Given the description of an element on the screen output the (x, y) to click on. 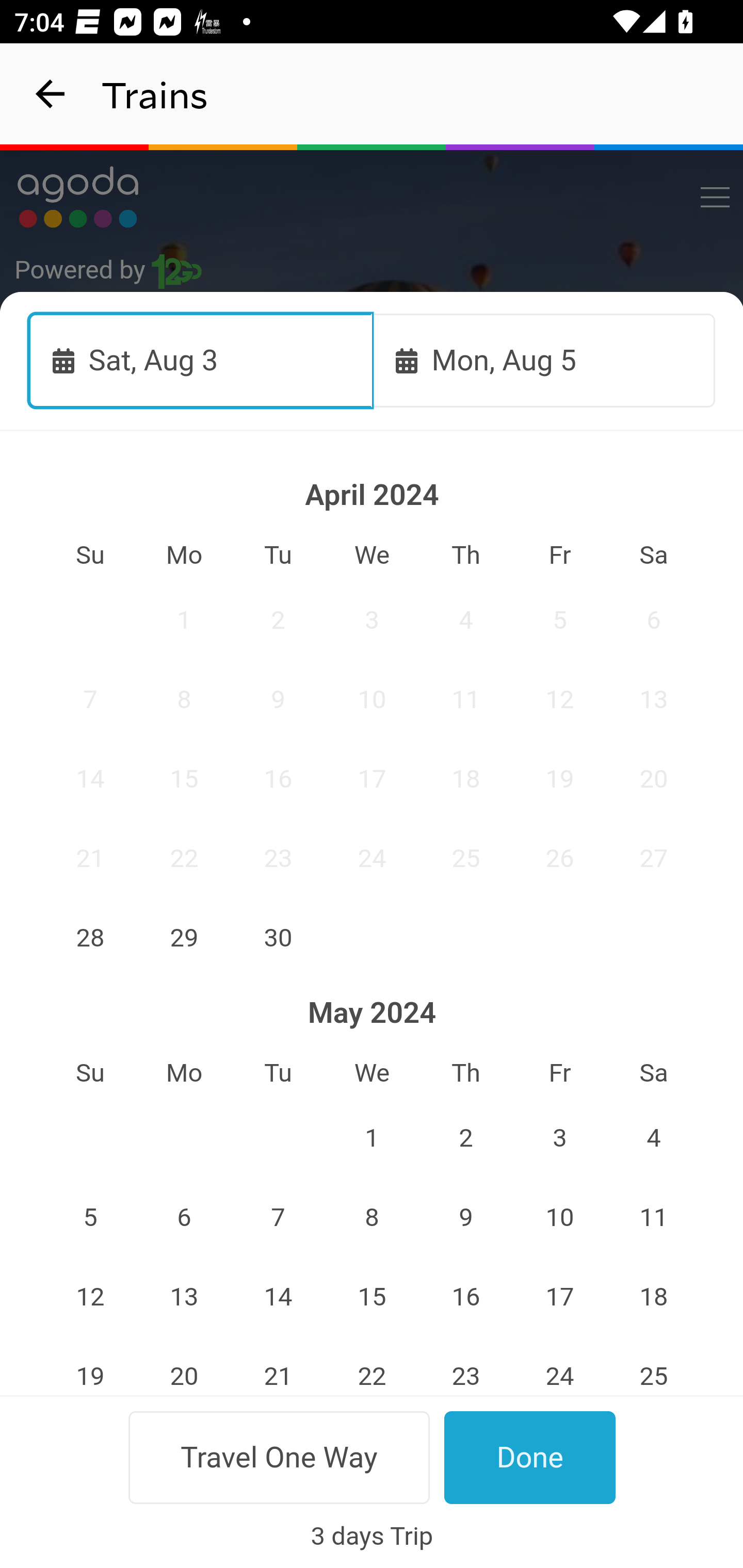
navigation_button (50, 93)
Sat, Aug 3 (200, 359)
Mon, Aug 5 (544, 359)
1 (184, 620)
2 (278, 620)
3 (372, 620)
4 (465, 620)
5 (559, 620)
6 (654, 620)
7 (90, 699)
8 (184, 699)
9 (278, 699)
10 (372, 699)
11 (465, 699)
12 (559, 699)
13 (654, 699)
14 (90, 779)
15 (184, 779)
16 (278, 779)
17 (372, 779)
18 (465, 779)
19 (559, 779)
20 (654, 779)
21 (90, 858)
22 (184, 858)
23 (278, 858)
24 (372, 858)
25 (465, 858)
26 (559, 858)
27 (654, 858)
28 (90, 937)
29 (184, 937)
30 (278, 937)
1 (372, 1138)
2 (465, 1138)
3 (559, 1138)
4 (654, 1138)
5 (90, 1218)
6 (184, 1218)
7 (278, 1218)
8 (372, 1218)
9 (465, 1218)
10 (559, 1218)
11 (654, 1218)
12 (90, 1296)
13 (184, 1296)
14 (278, 1296)
15 (372, 1296)
16 (465, 1296)
17 (559, 1296)
